Given the description of an element on the screen output the (x, y) to click on. 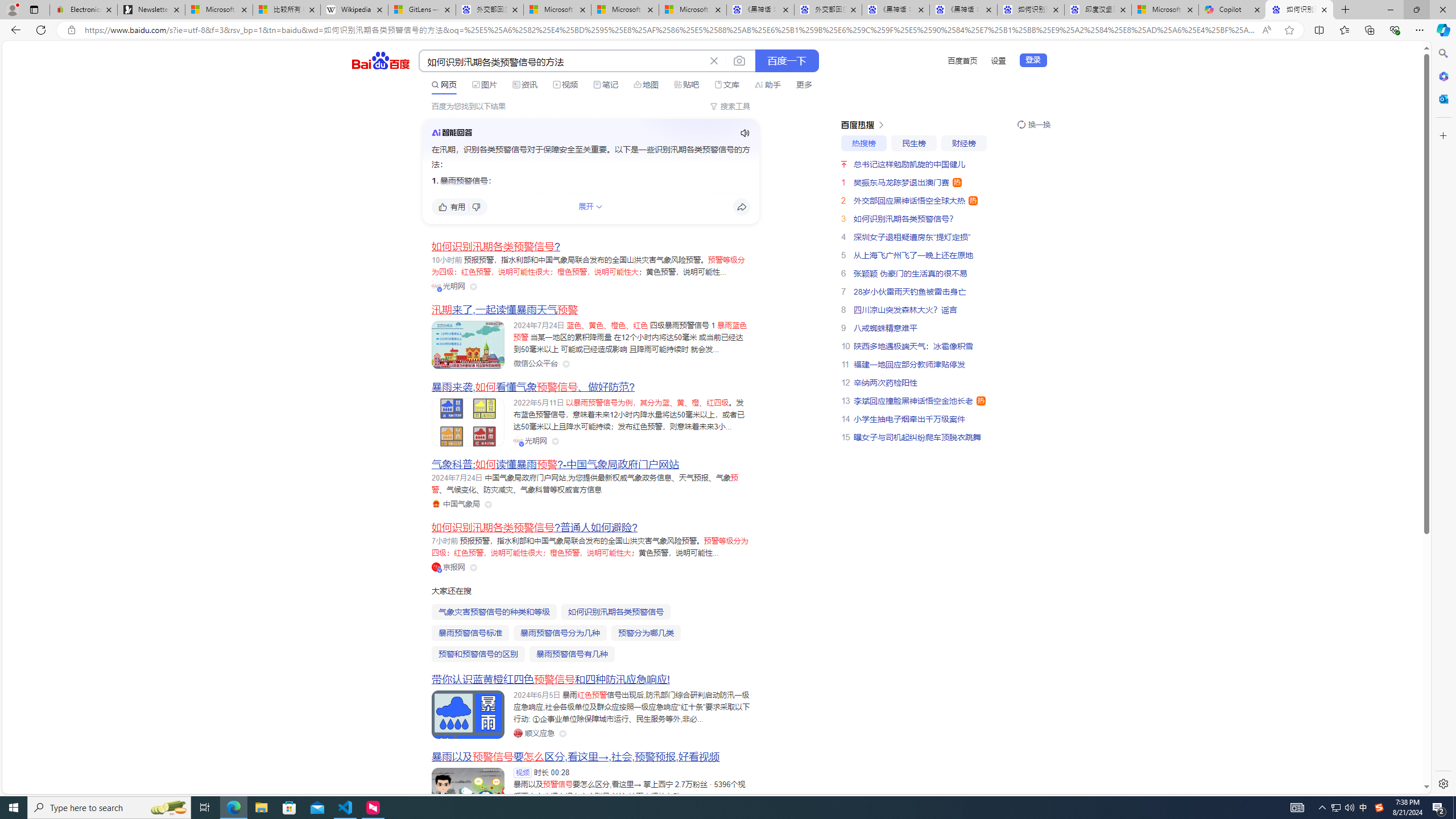
AutomationID: kw (562, 61)
